Given the description of an element on the screen output the (x, y) to click on. 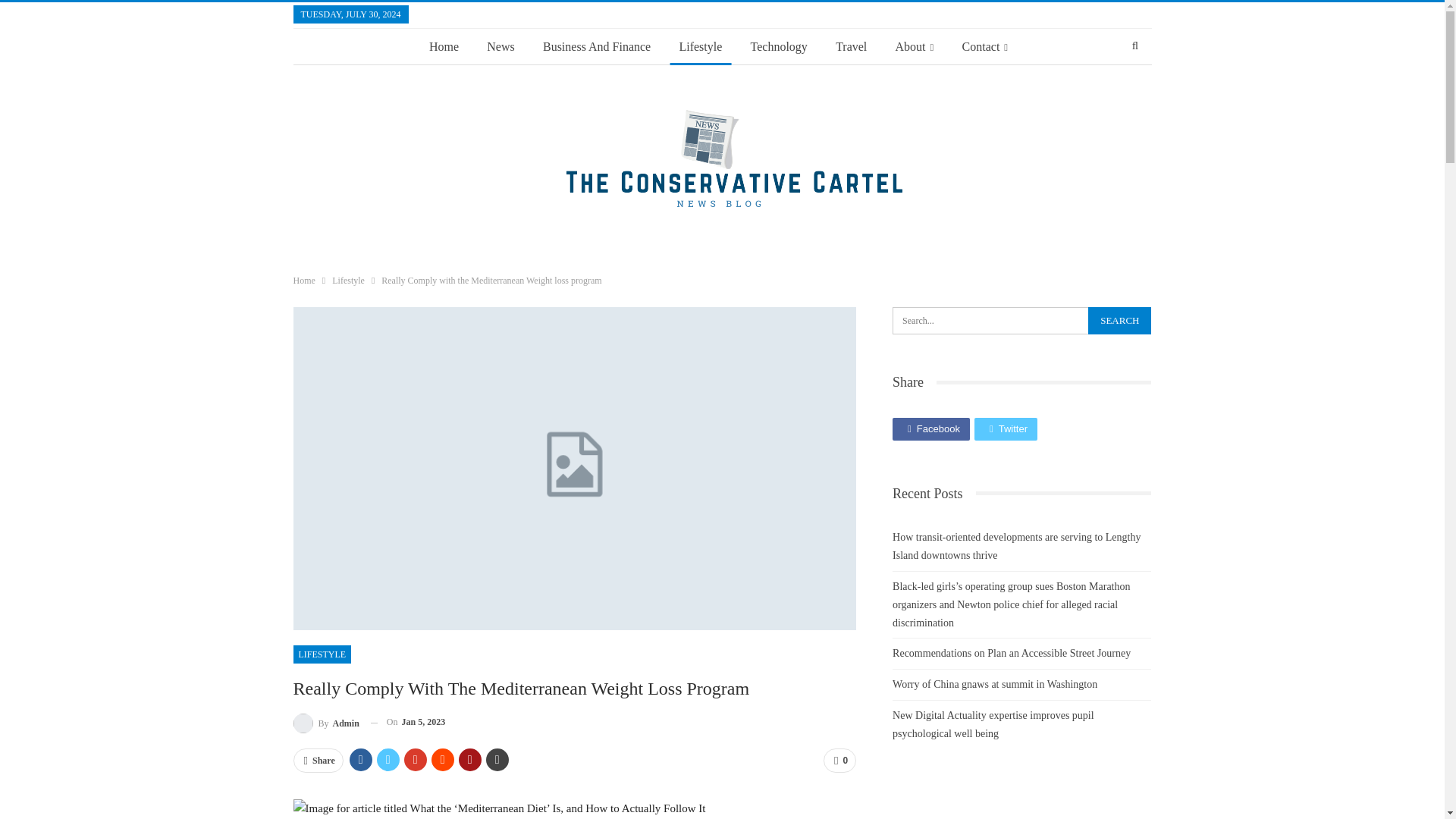
Home (303, 280)
Search (1119, 320)
News (499, 46)
Home (443, 46)
About (914, 46)
Browse Author Articles (325, 721)
Search (1119, 320)
Travel (851, 46)
0 (840, 760)
Business And Finance (596, 46)
By Admin (325, 721)
LIFESTYLE (321, 654)
Contact (985, 46)
Technology (778, 46)
Lifestyle (699, 46)
